Given the description of an element on the screen output the (x, y) to click on. 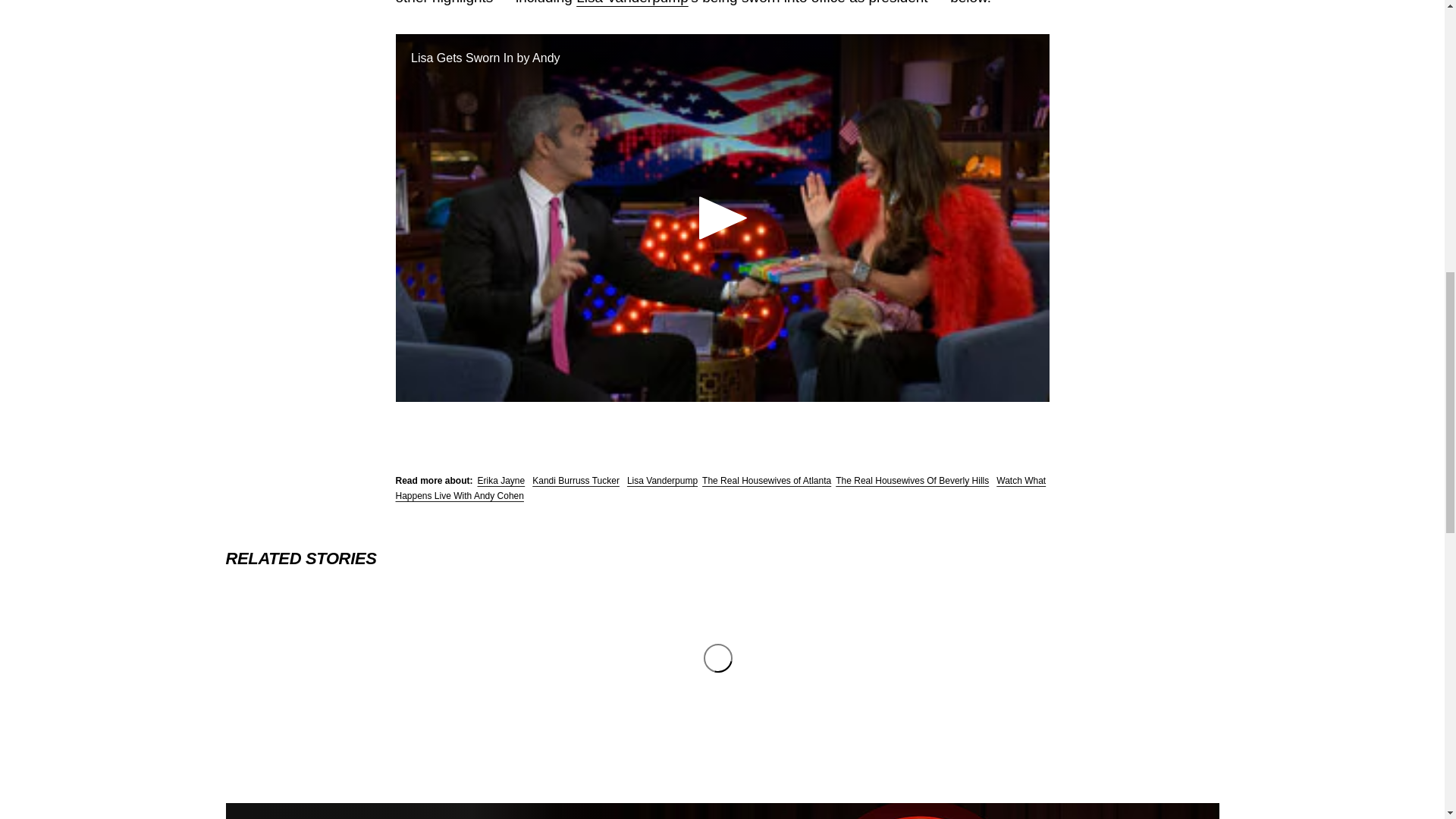
Kandi Burruss Tucker (576, 480)
The Real Housewives of Atlanta (766, 480)
Watch What Happens Live With Andy Cohen (721, 488)
Lisa Vanderpump (662, 480)
Lisa Vanderpump (632, 2)
Erika Jayne (501, 480)
The Real Housewives Of Beverly Hills (911, 480)
